Given the description of an element on the screen output the (x, y) to click on. 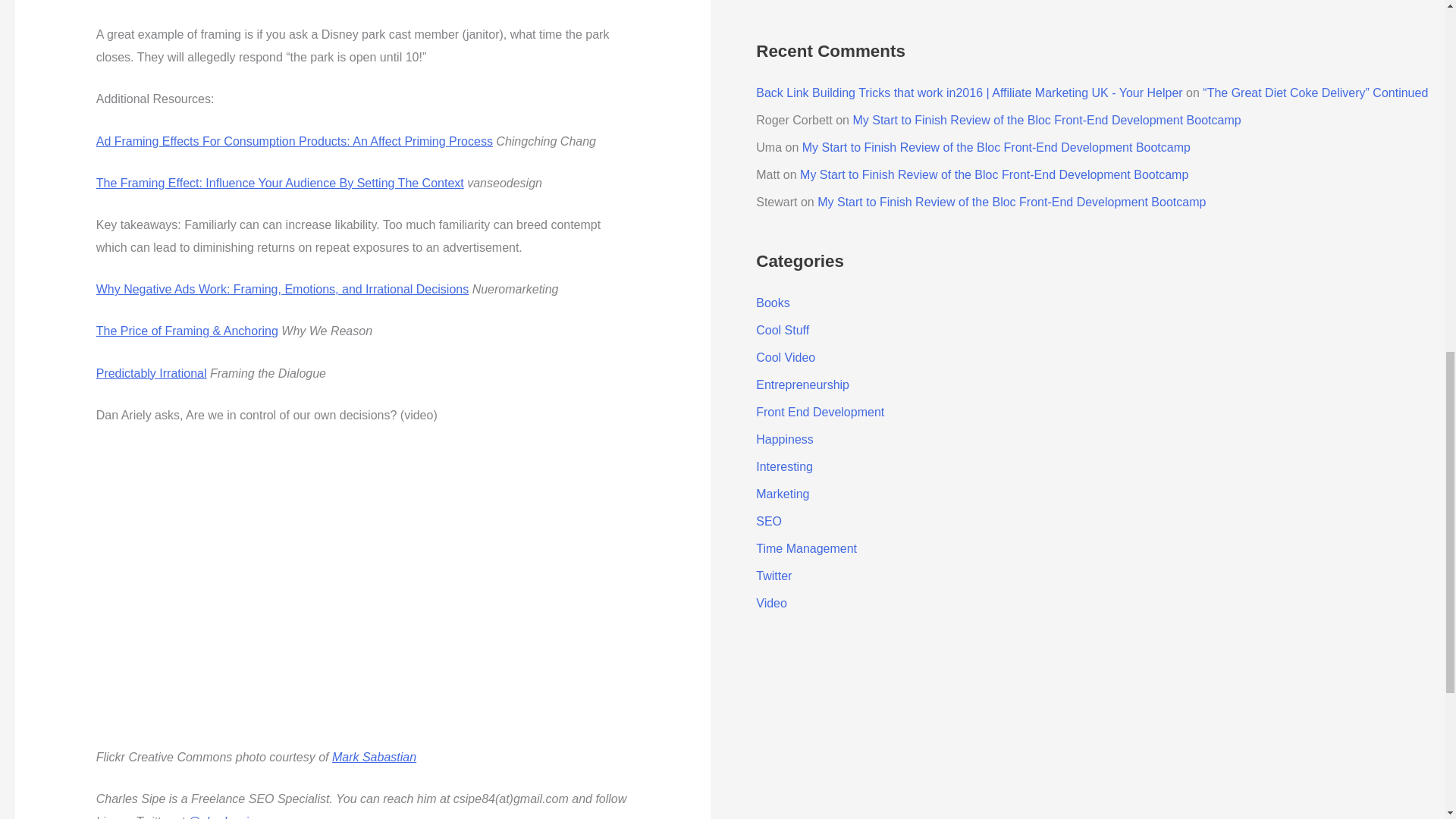
Mark Sabastian (373, 757)
Predictably Irrational (151, 373)
